Given the description of an element on the screen output the (x, y) to click on. 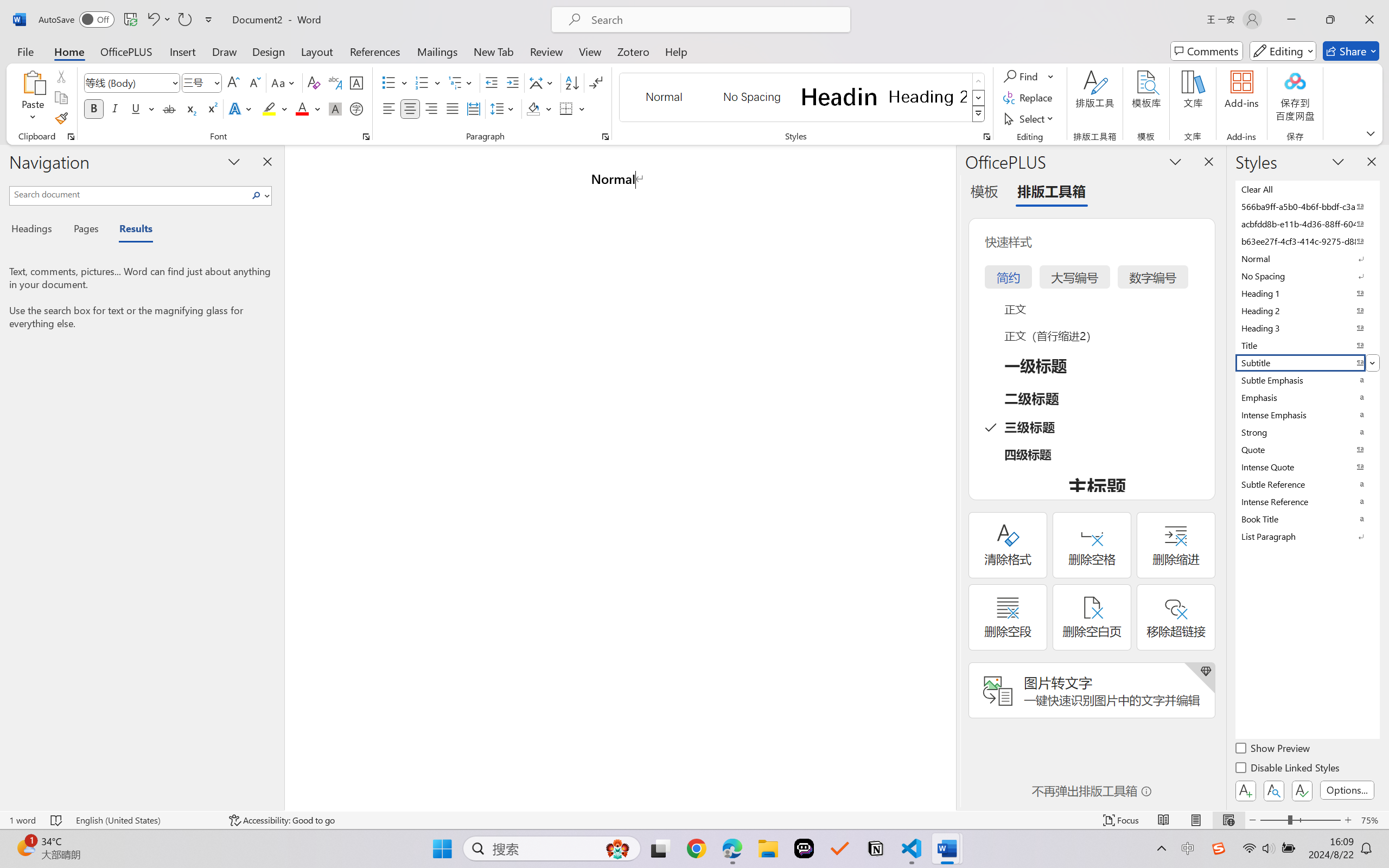
Microsoft search (715, 19)
Quick Access Toolbar (127, 19)
Increase Indent (512, 82)
Cut (60, 75)
Title (1306, 345)
Character Shading (334, 108)
Sort... (571, 82)
Select (1030, 118)
List Paragraph (1306, 536)
Decrease Indent (491, 82)
Results (130, 229)
Ribbon Display Options (1370, 132)
